Given the description of an element on the screen output the (x, y) to click on. 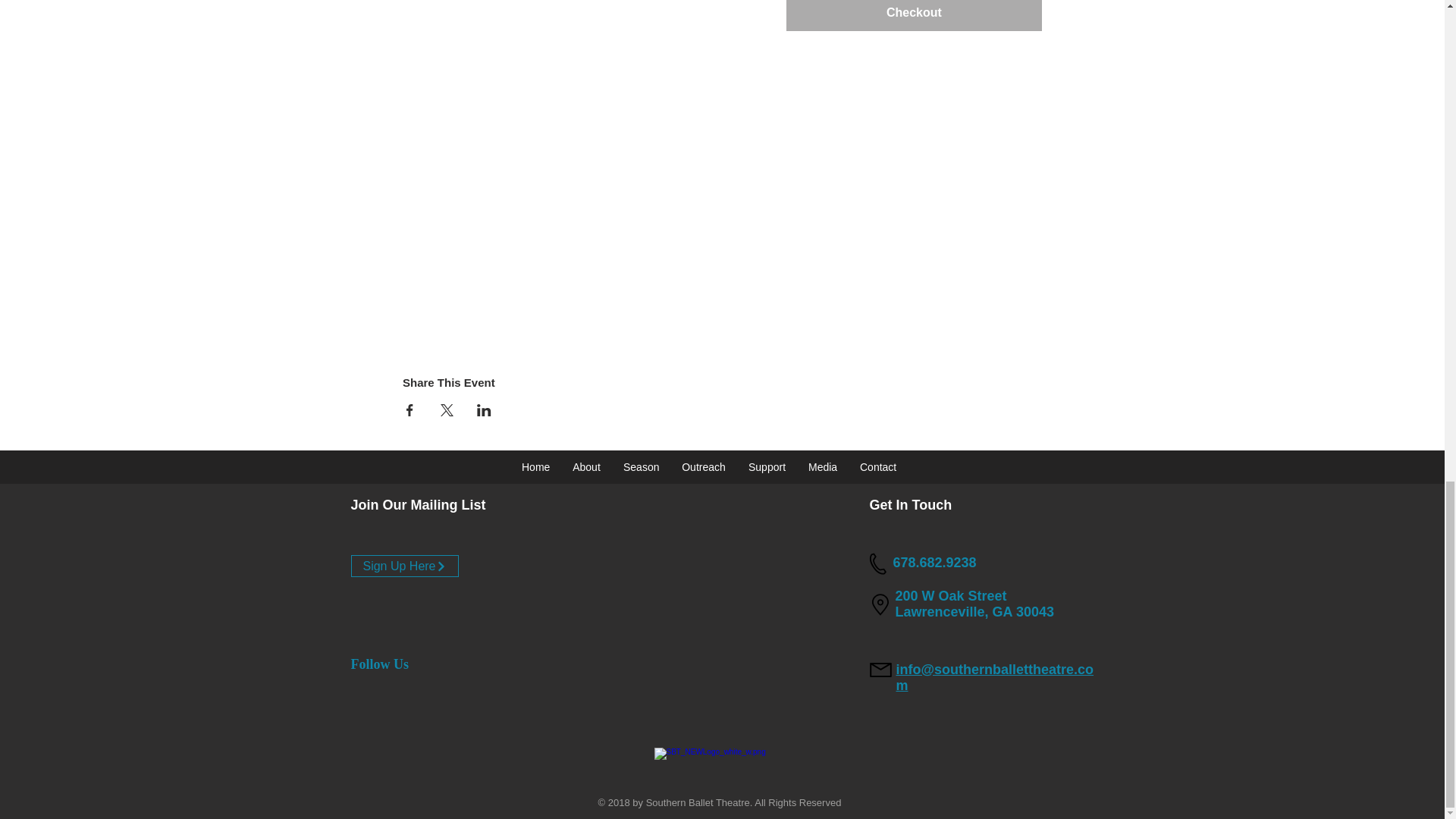
Outreach (702, 466)
Media (822, 466)
Contact (877, 466)
Sign Up Here (404, 566)
About (585, 466)
Checkout (914, 15)
Home (535, 466)
